Given the description of an element on the screen output the (x, y) to click on. 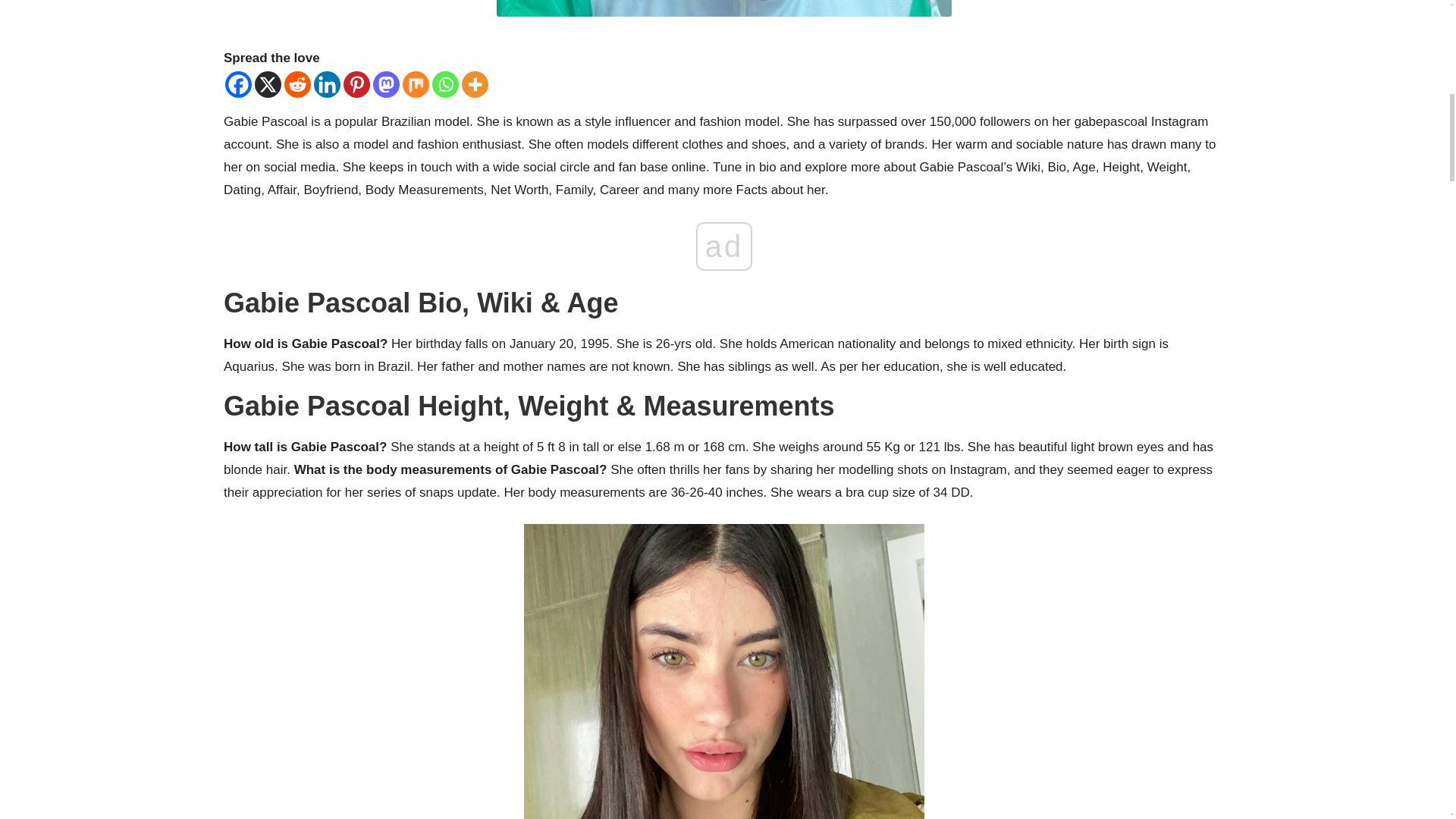
More (474, 84)
Mix (416, 84)
Reddit (297, 84)
X (267, 84)
Mastodon (385, 84)
Linkedin (327, 84)
Pinterest (356, 84)
Whatsapp (445, 84)
Facebook (238, 84)
